Given the description of an element on the screen output the (x, y) to click on. 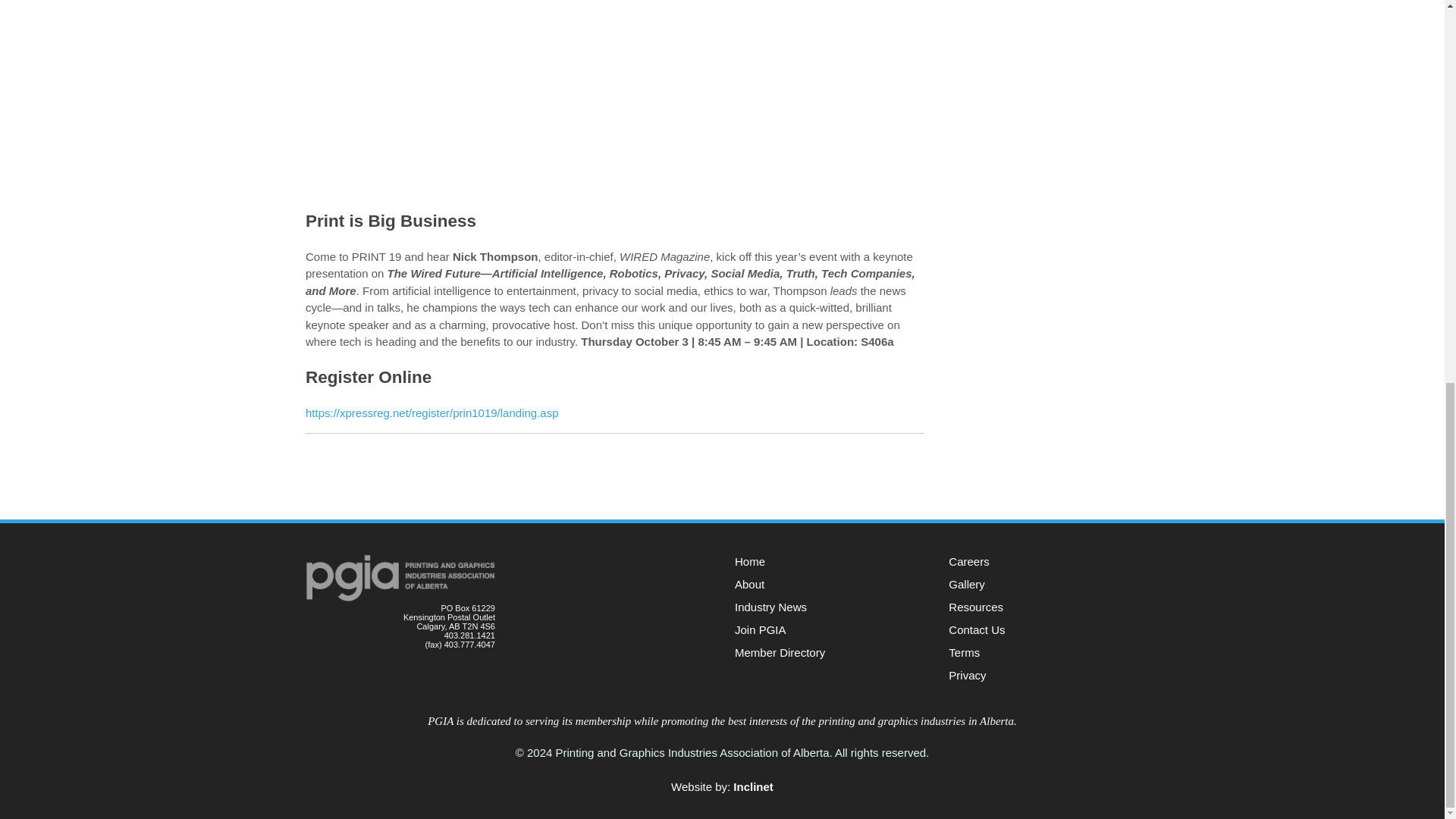
Industry News (770, 606)
Terms (964, 652)
Contact Us (976, 629)
Member Directory (780, 652)
About (749, 584)
Home (750, 561)
Gallery (967, 584)
Careers (968, 561)
Inclinet (753, 786)
Privacy (967, 675)
